Given the description of an element on the screen output the (x, y) to click on. 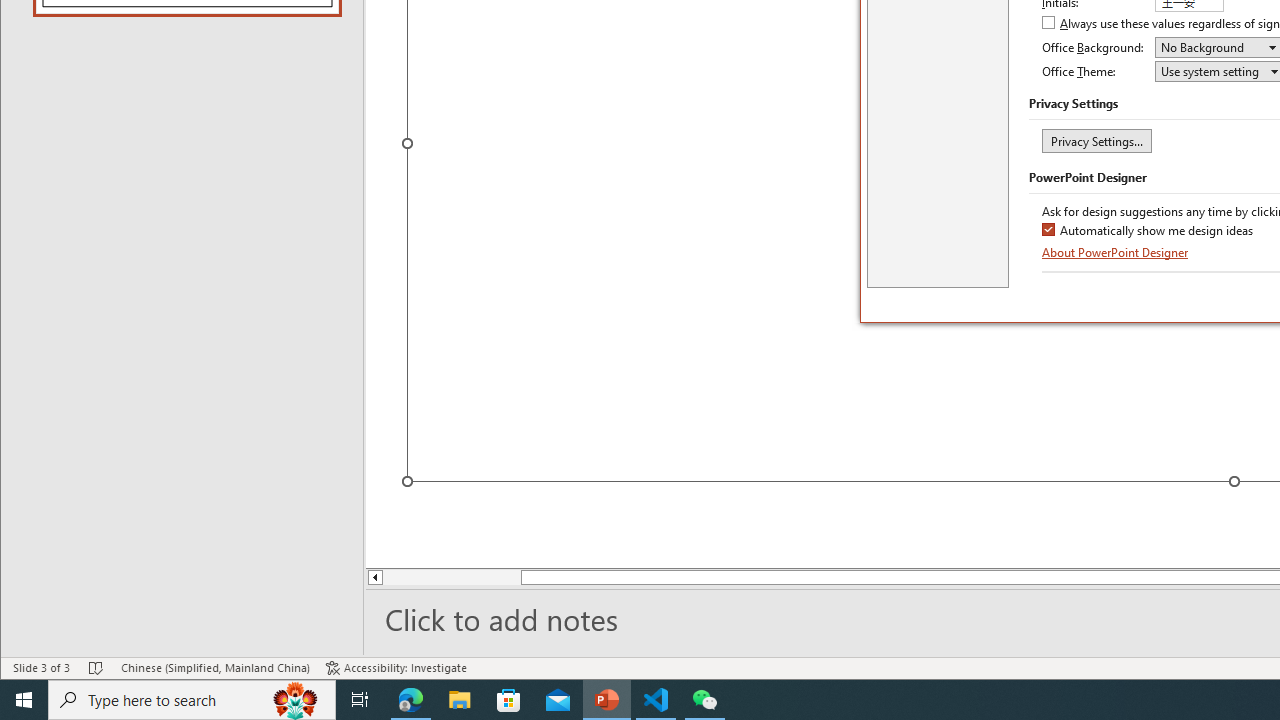
Privacy Settings... (1096, 140)
